Given the description of an element on the screen output the (x, y) to click on. 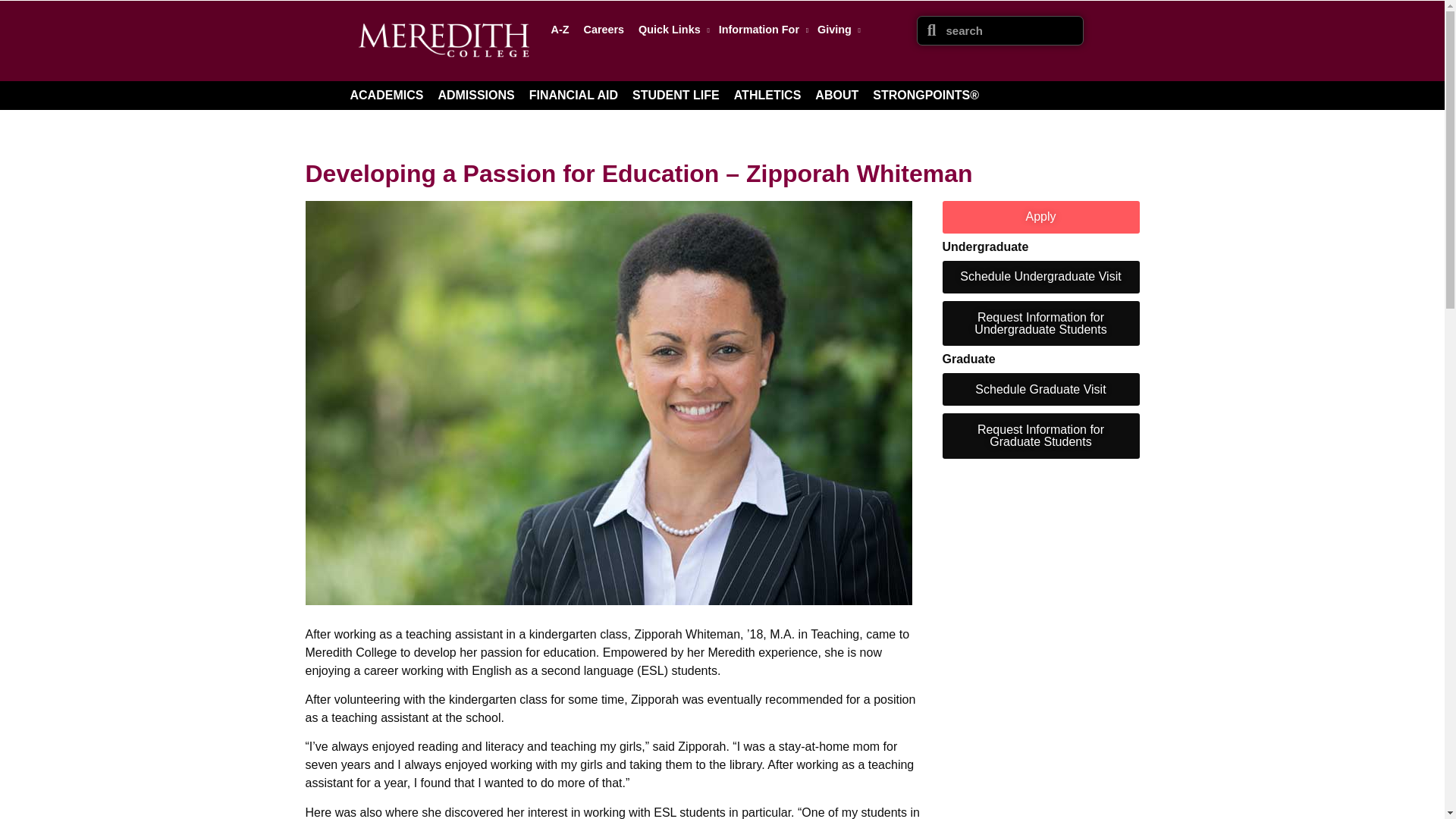
Careers (603, 29)
ADMISSIONS (475, 95)
Quick Links (670, 29)
ABOUT (837, 95)
A-Z (559, 29)
ATHLETICS (767, 95)
STUDENT LIFE (675, 95)
Information For (760, 29)
ACADEMICS (386, 95)
FINANCIAL AID (573, 95)
